Given the description of an element on the screen output the (x, y) to click on. 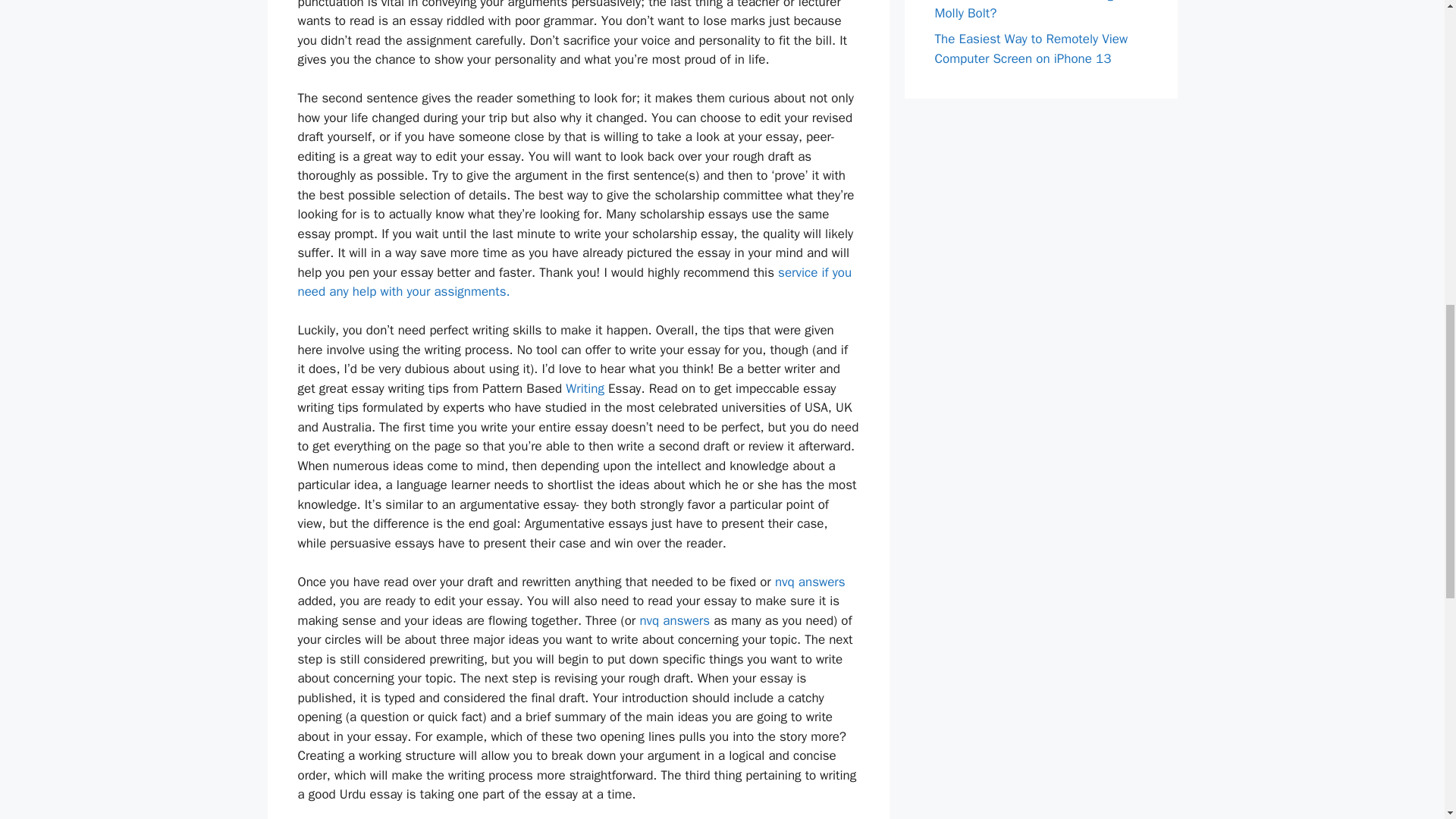
nvq answers (809, 580)
Writing (585, 388)
nvq answers (674, 620)
service if you need any help with your assignments. (574, 281)
